Given the description of an element on the screen output the (x, y) to click on. 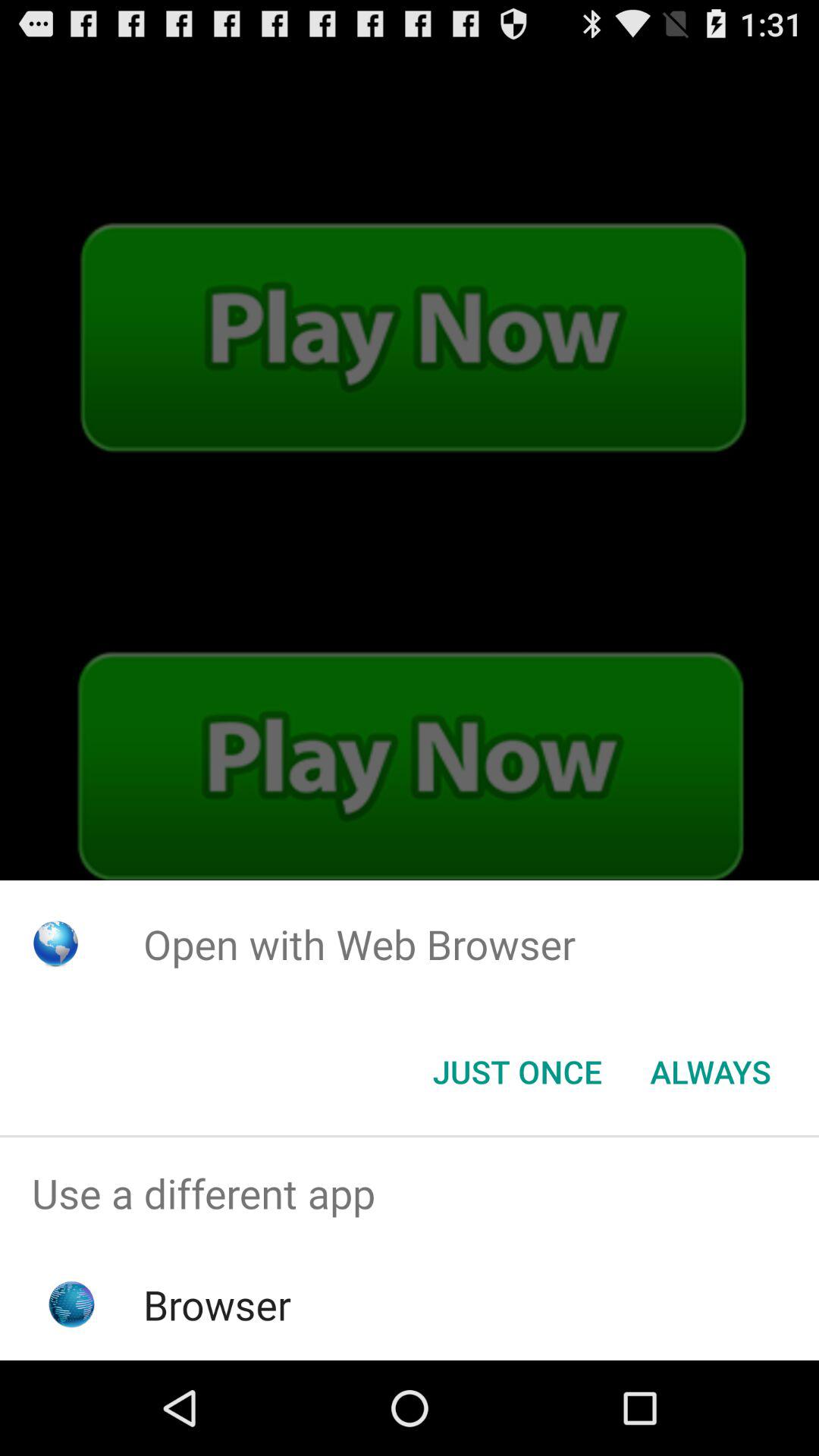
turn on the item below open with web icon (517, 1071)
